Given the description of an element on the screen output the (x, y) to click on. 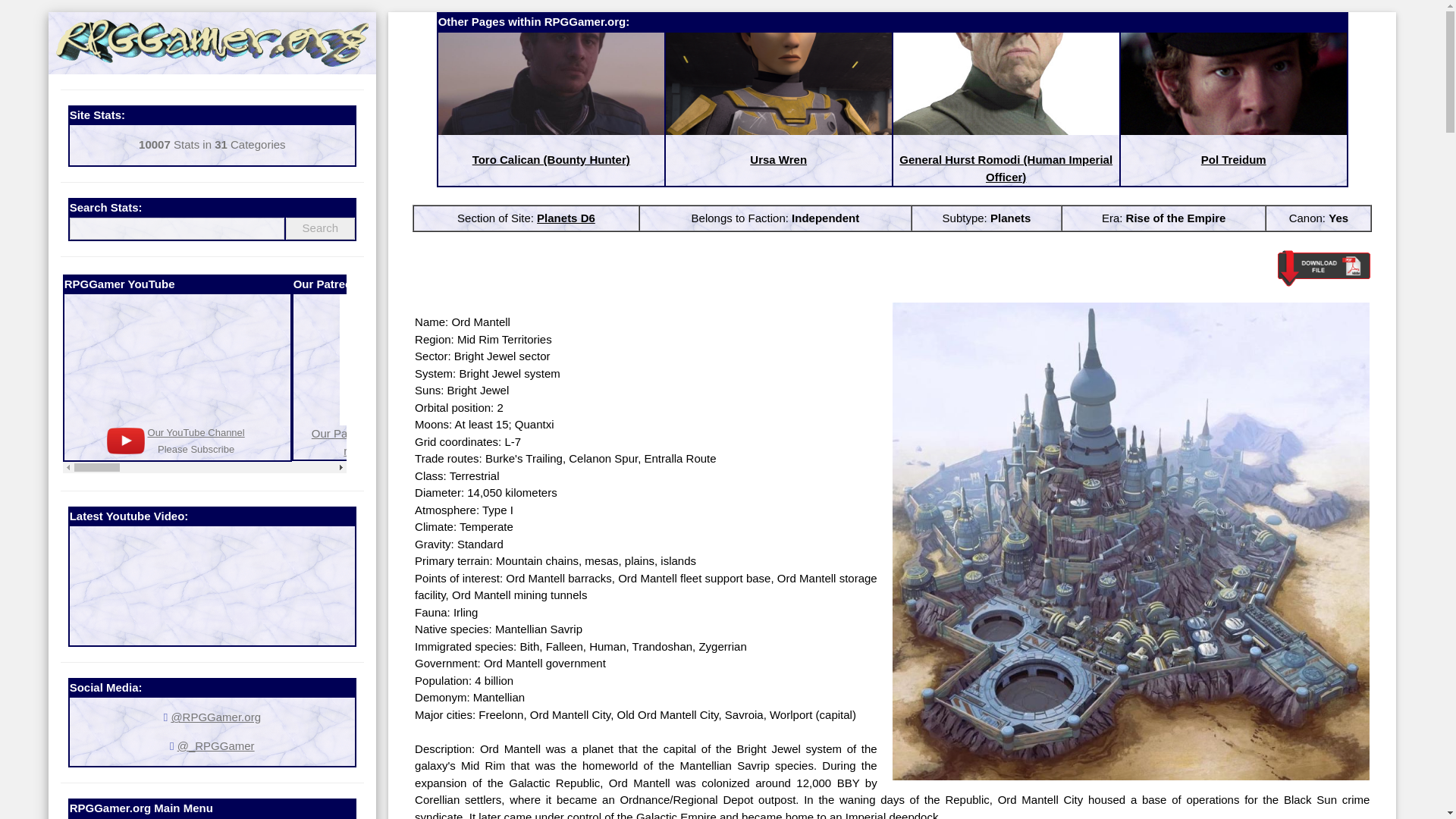
Search (860, 404)
Search (320, 228)
Our YouTube Channel (320, 228)
